Given the description of an element on the screen output the (x, y) to click on. 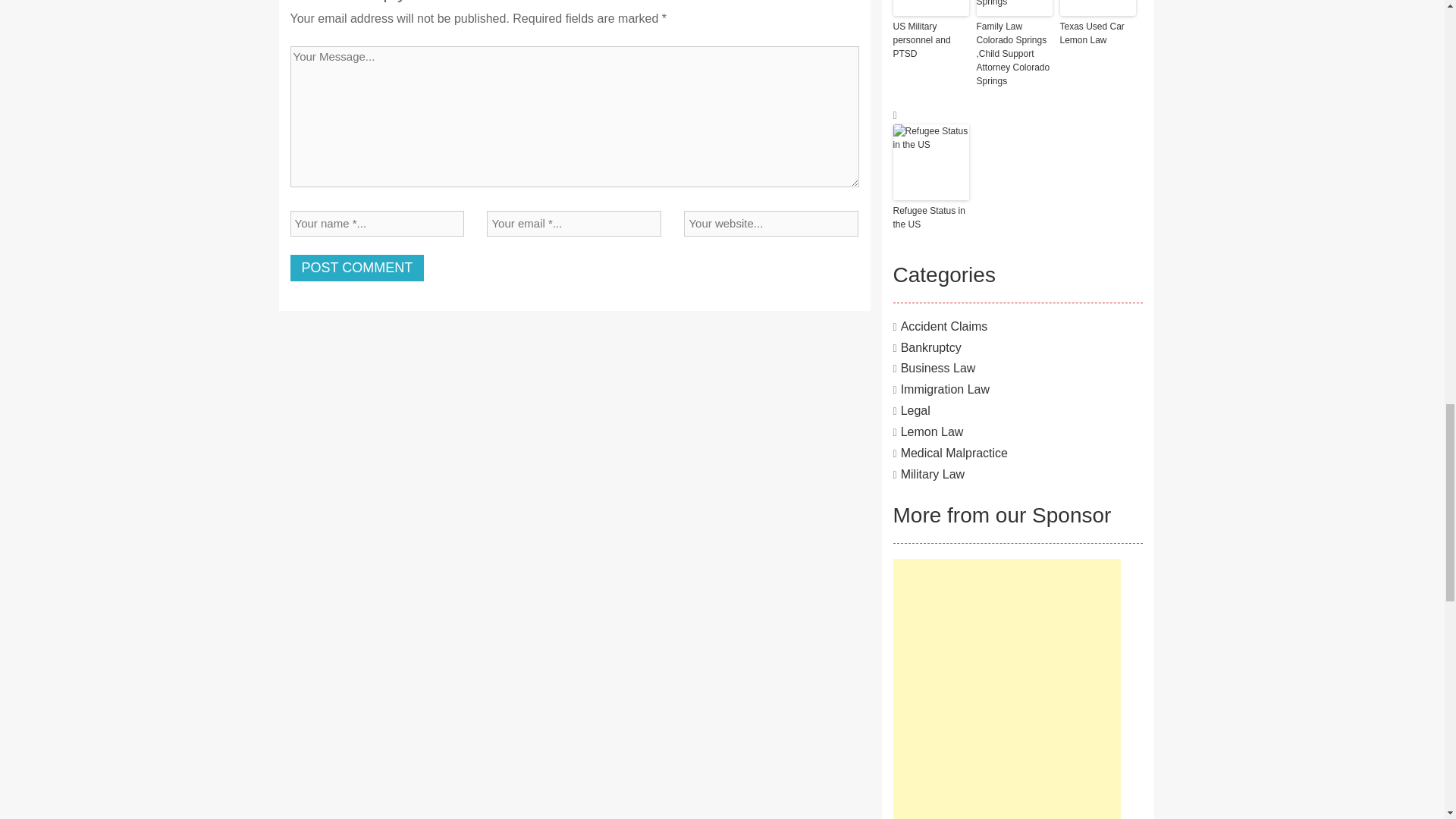
Post Comment (356, 267)
Post Comment (356, 267)
